Given the description of an element on the screen output the (x, y) to click on. 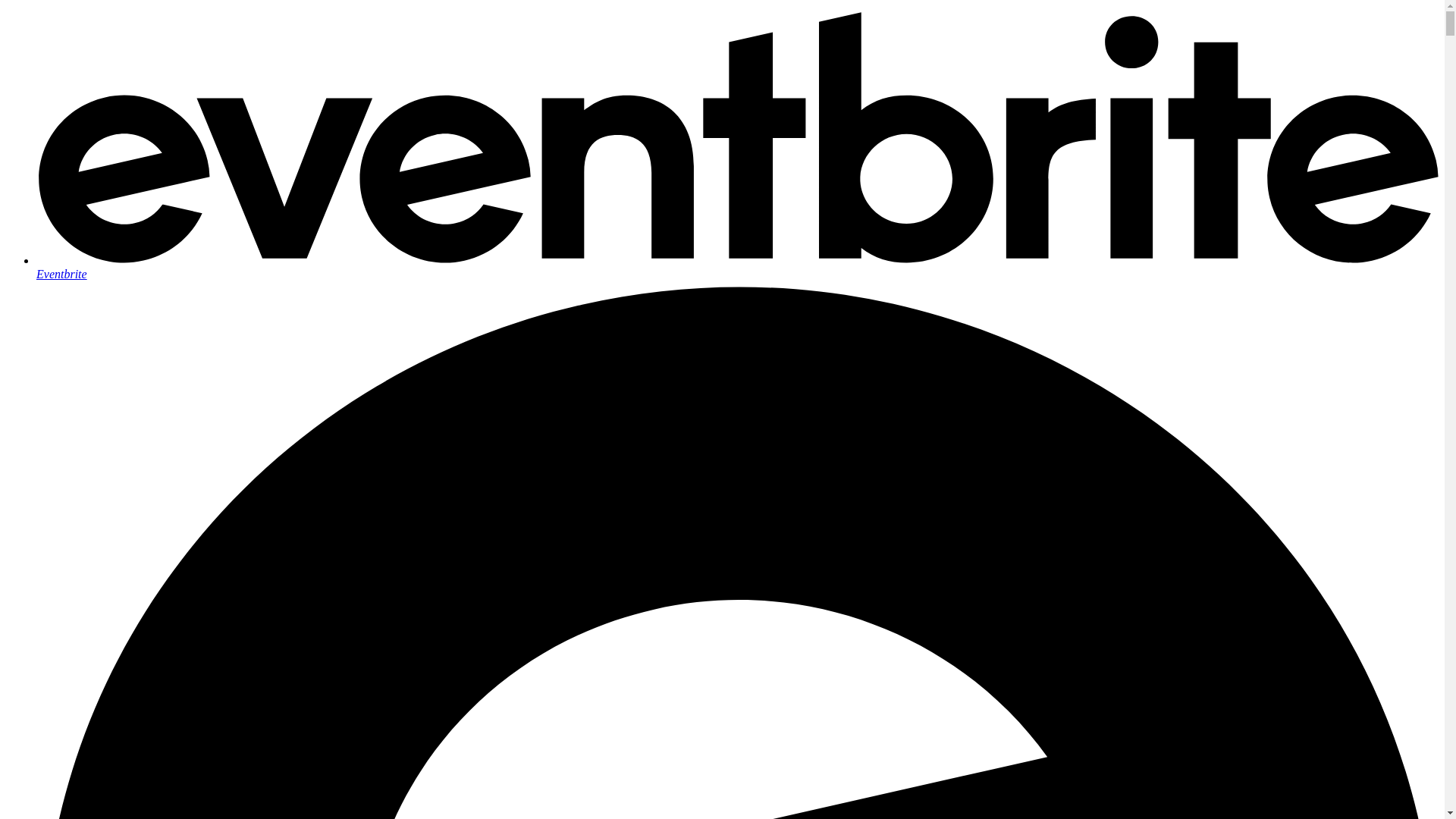
Eventbrite Element type: text (737, 267)
